Given the description of an element on the screen output the (x, y) to click on. 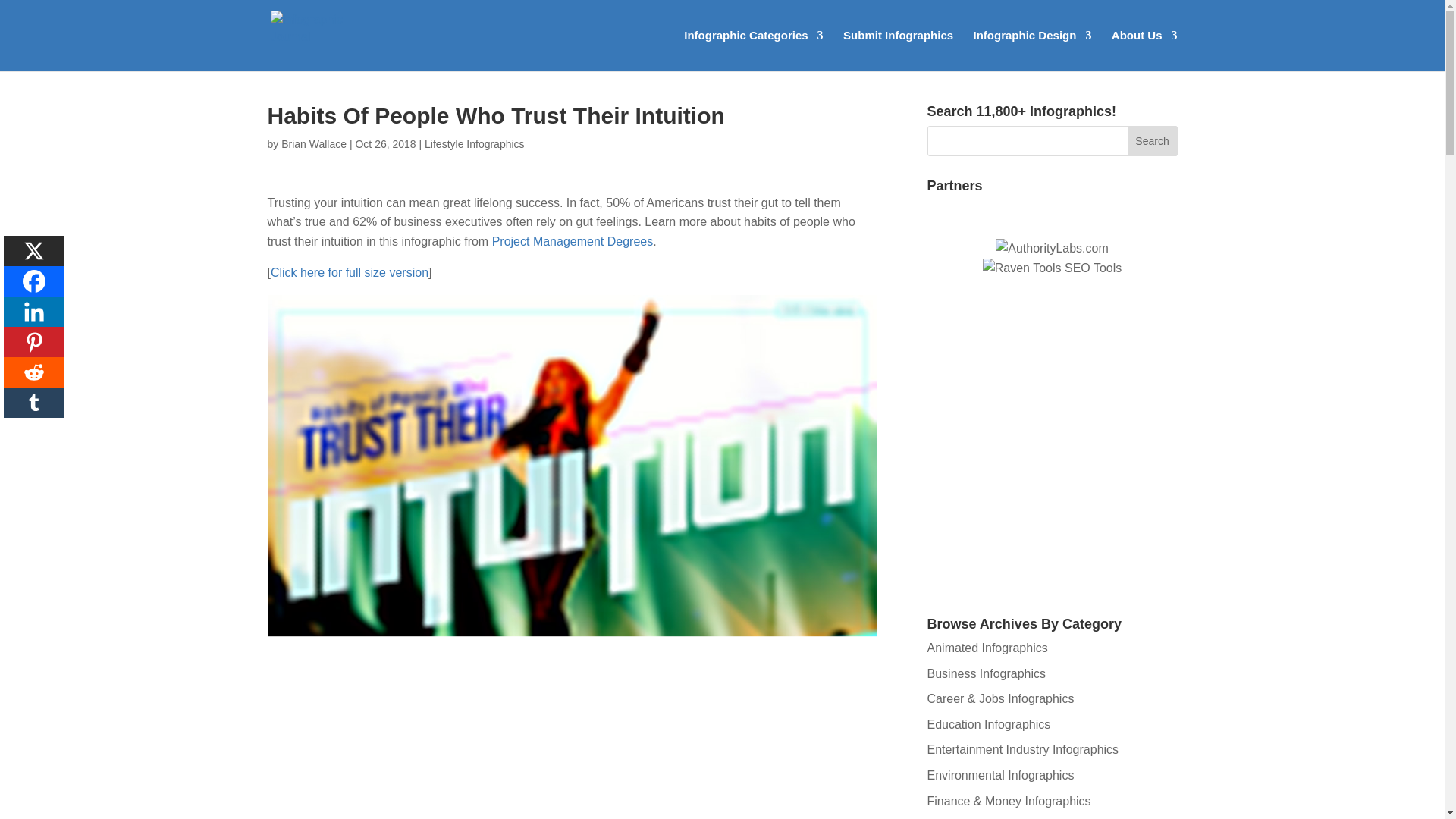
Infographic Categories (753, 50)
About Us (1144, 50)
Search (1151, 141)
Infographic Design (1033, 50)
Lifestyle Infographics (474, 143)
Project Management Degrees (572, 241)
Brian Wallace (313, 143)
Click here for full size version (349, 272)
Submit Infographics (898, 50)
Infographic Categories (753, 50)
